Given the description of an element on the screen output the (x, y) to click on. 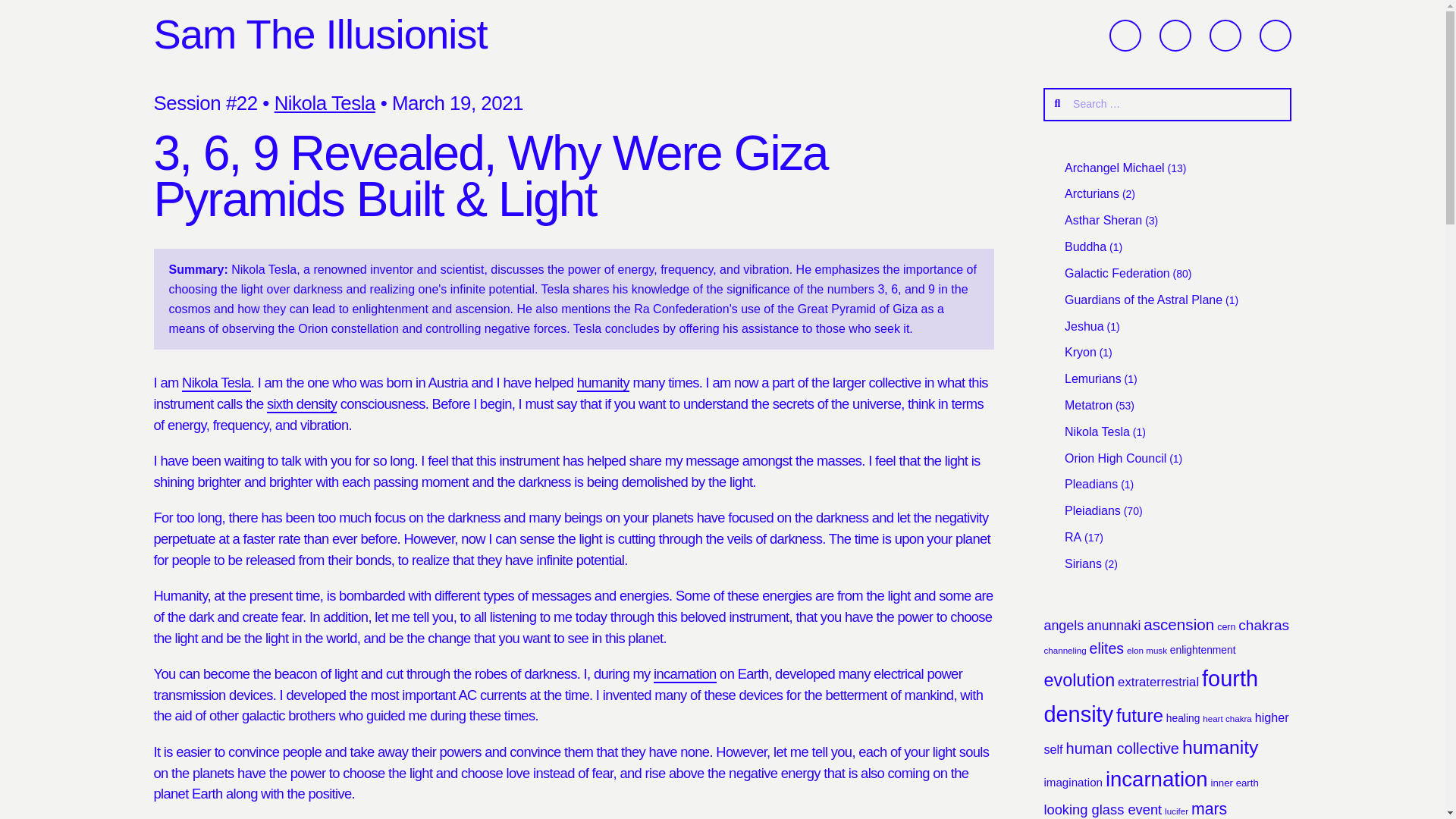
Galactic Federation (1117, 273)
Sam The Illusionist (319, 34)
y (1125, 35)
Nikola Tesla (325, 102)
Archangel Michael (1114, 167)
Buddha (1085, 246)
Nikola Tesla (216, 383)
Jeshua (1083, 326)
Asthar Sheran (1102, 219)
Arcturians (1091, 193)
incarnation (684, 674)
p (1174, 35)
Guardians of the Astral Plane (1143, 299)
March 19, 2021 (456, 102)
